Given the description of an element on the screen output the (x, y) to click on. 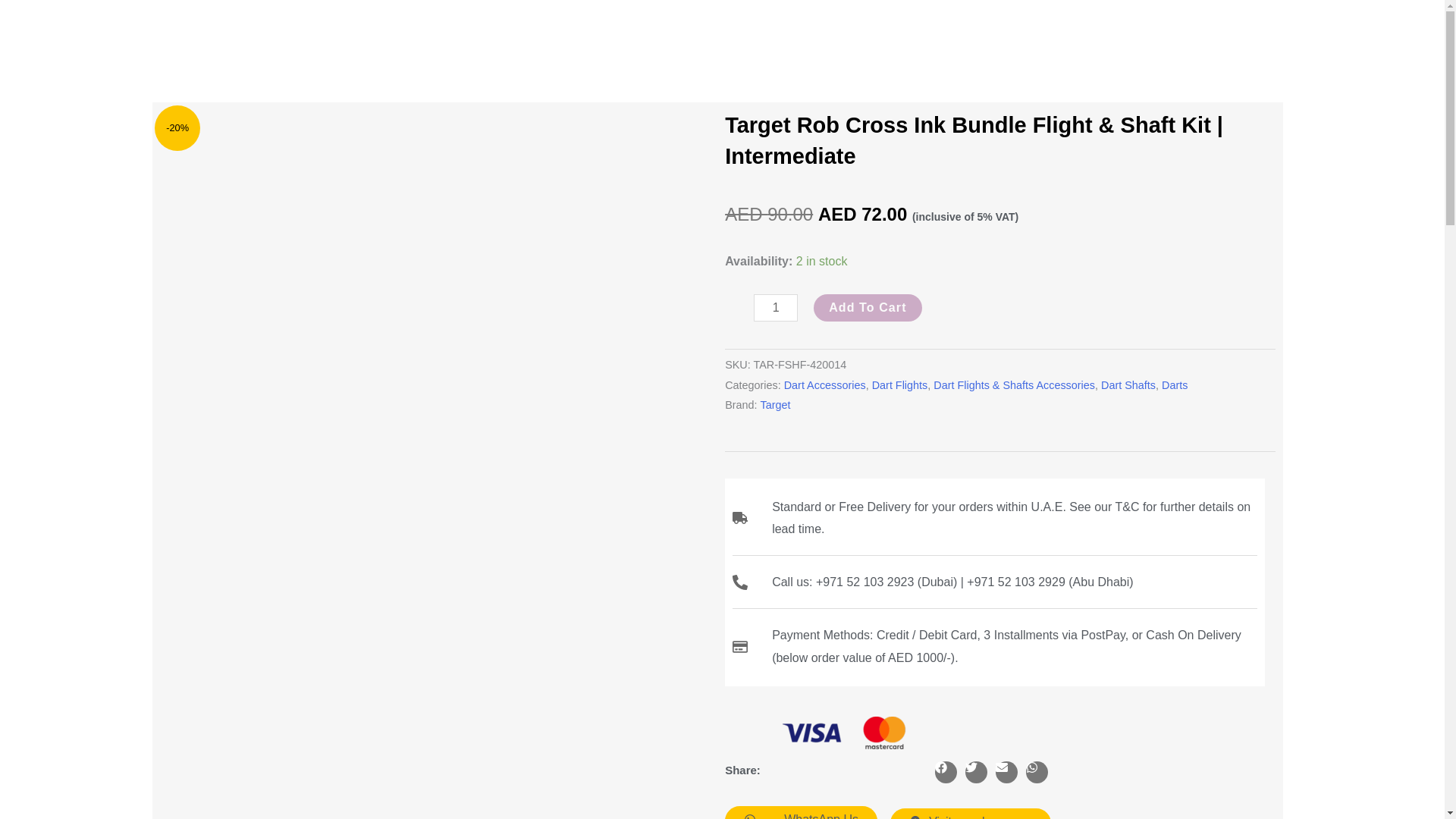
1 (775, 307)
